Given the description of an element on the screen output the (x, y) to click on. 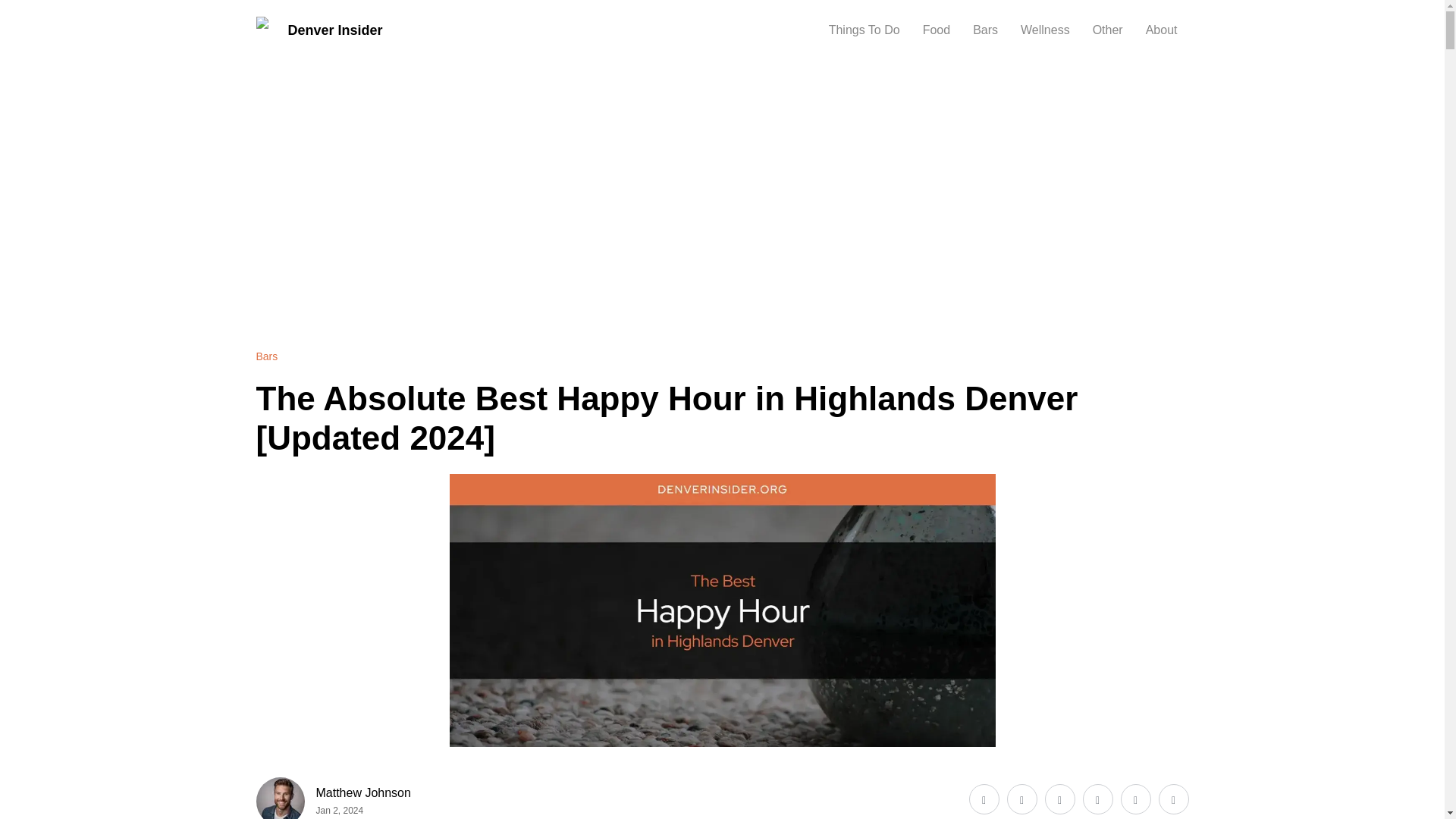
Things To Do (863, 30)
Denver Insider (319, 30)
Bars (267, 355)
Matthew Johnson (362, 792)
